Given the description of an element on the screen output the (x, y) to click on. 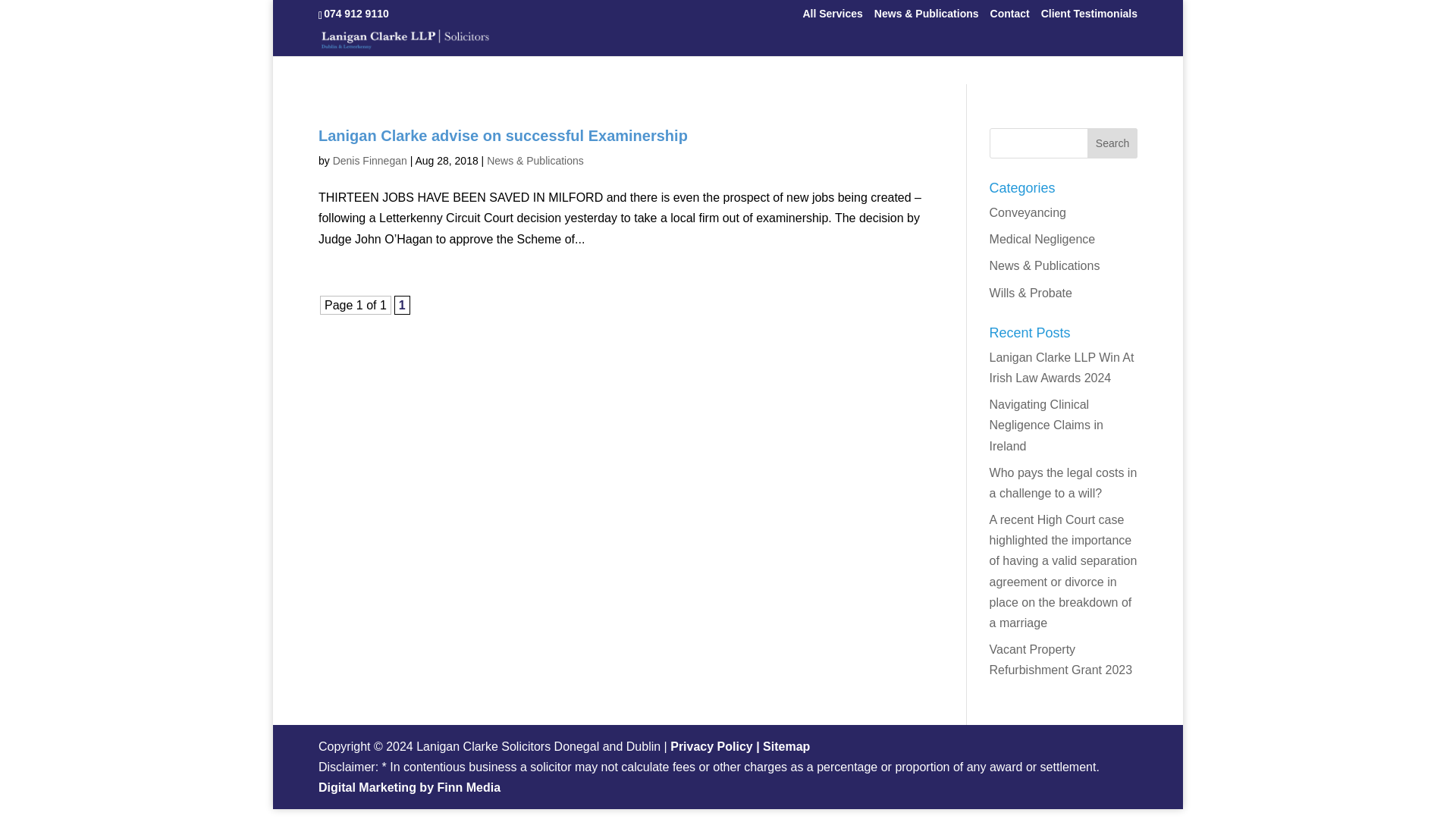
Vacant Property Refurbishment Grant 2023 (1061, 659)
Sitemap (785, 746)
Lanigan Clarke LLP Win At Irish Law Awards 2024 (1062, 367)
Lanigan Clarke advise on successful Examinership (502, 135)
Conveyancing (1027, 212)
Posts by Denis Finnegan (370, 160)
Who pays the legal costs in a challenge to a will? (1063, 482)
Medical Negligence (1043, 238)
Denis Finnegan (370, 160)
All Services (831, 16)
Digital Marketing by Finn Media (409, 787)
Search (1112, 142)
Contact (1009, 16)
Navigating Clinical Negligence Claims in Ireland (1046, 425)
